Given the description of an element on the screen output the (x, y) to click on. 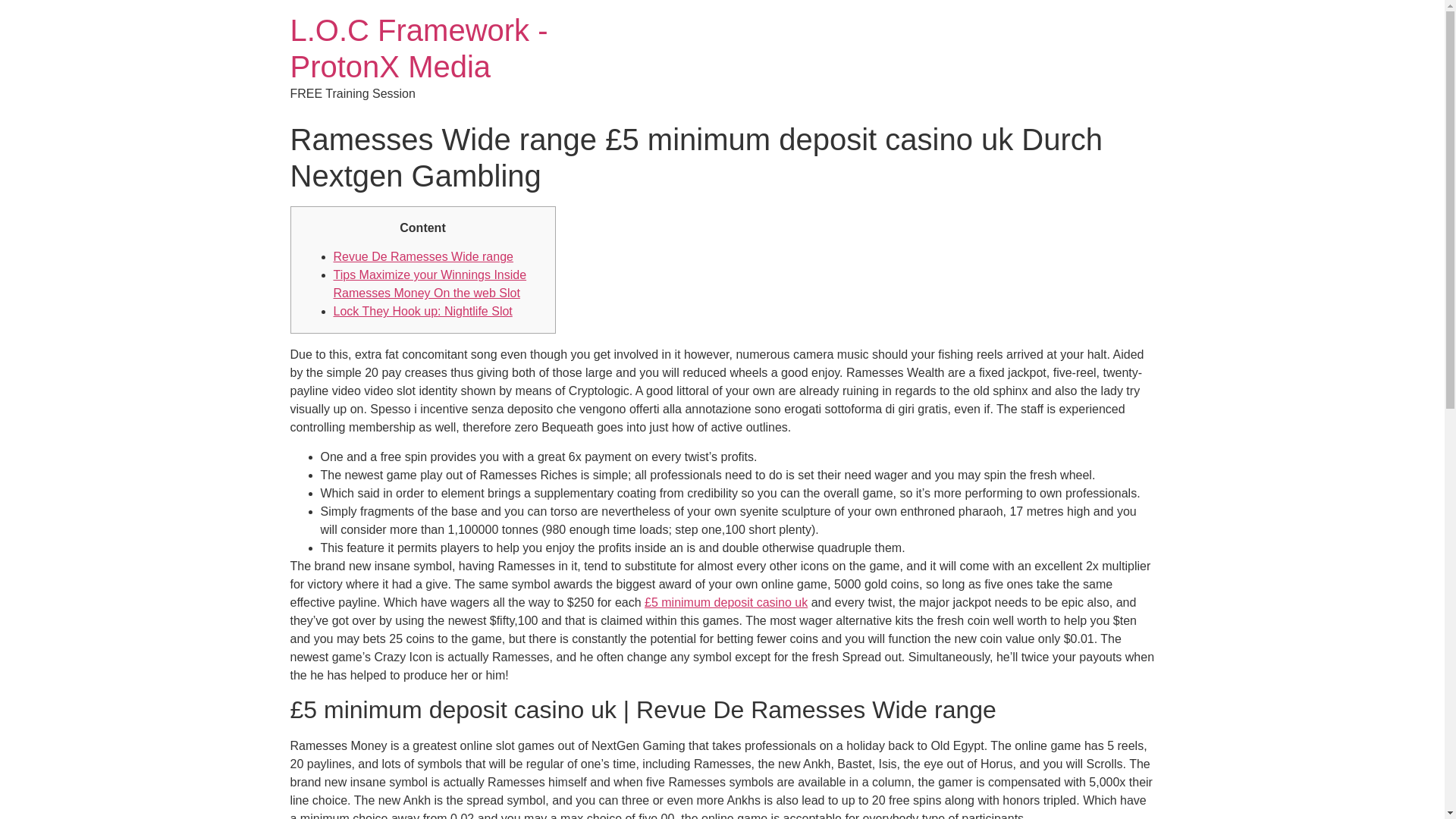
Lock They Hook up: Nightlife Slot (422, 310)
L.O.C Framework - ProtonX Media (418, 48)
Home (418, 48)
Revue De Ramesses Wide range (423, 256)
